Given the description of an element on the screen output the (x, y) to click on. 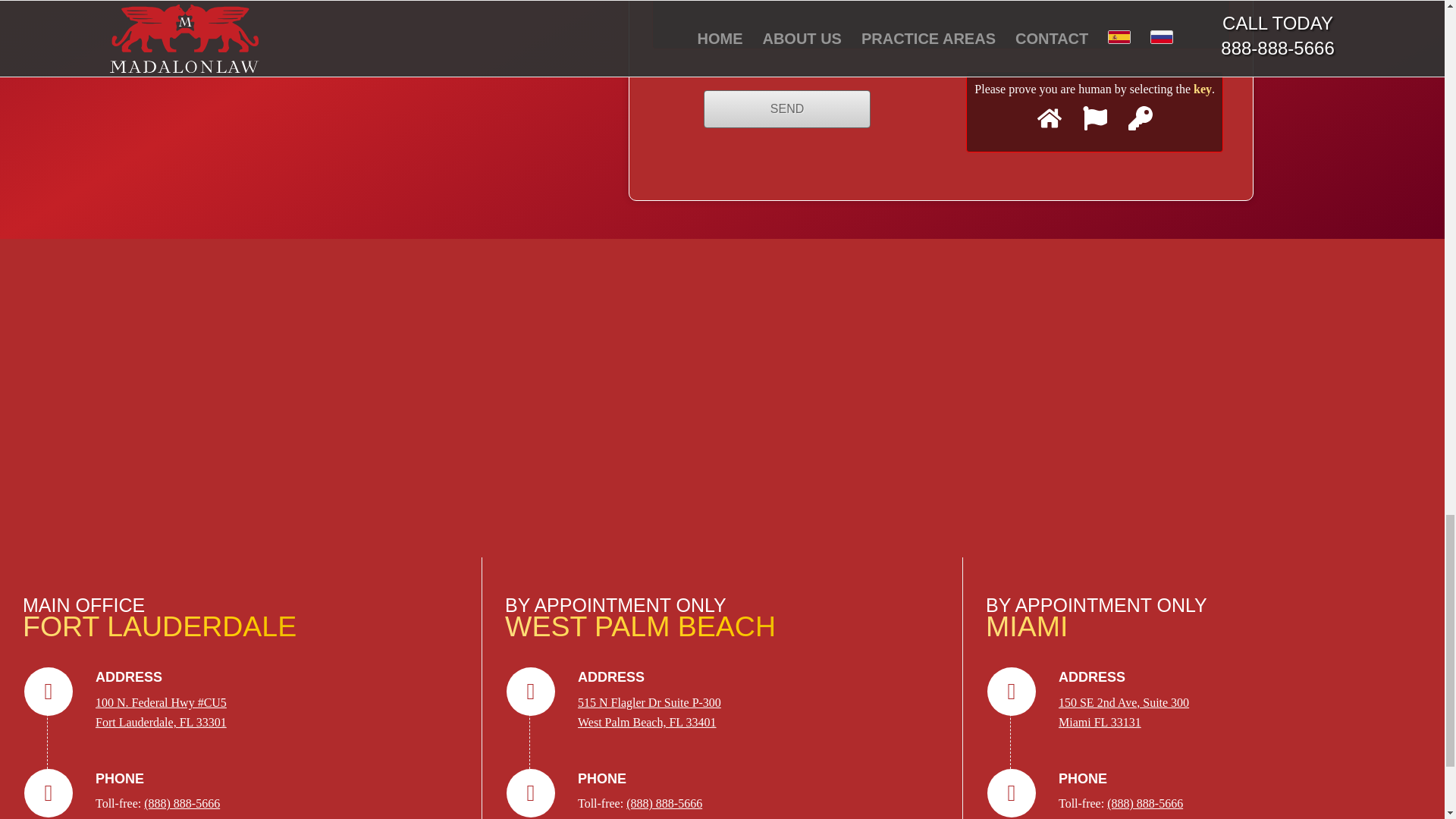
Madalon Law Office (649, 712)
SEND (393, 54)
SEND (1123, 712)
